Given the description of an element on the screen output the (x, y) to click on. 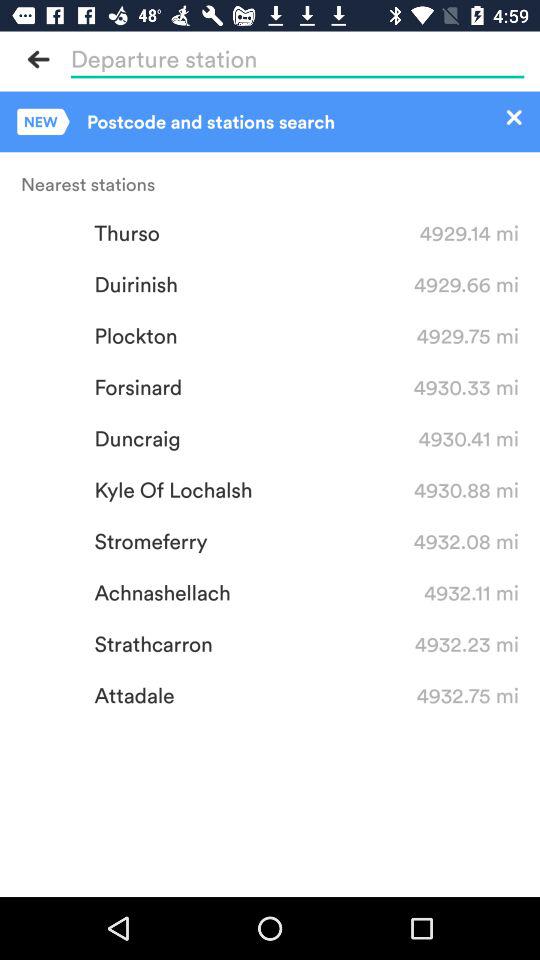
the highlighted area is for entering in your destination information (297, 59)
